Given the description of an element on the screen output the (x, y) to click on. 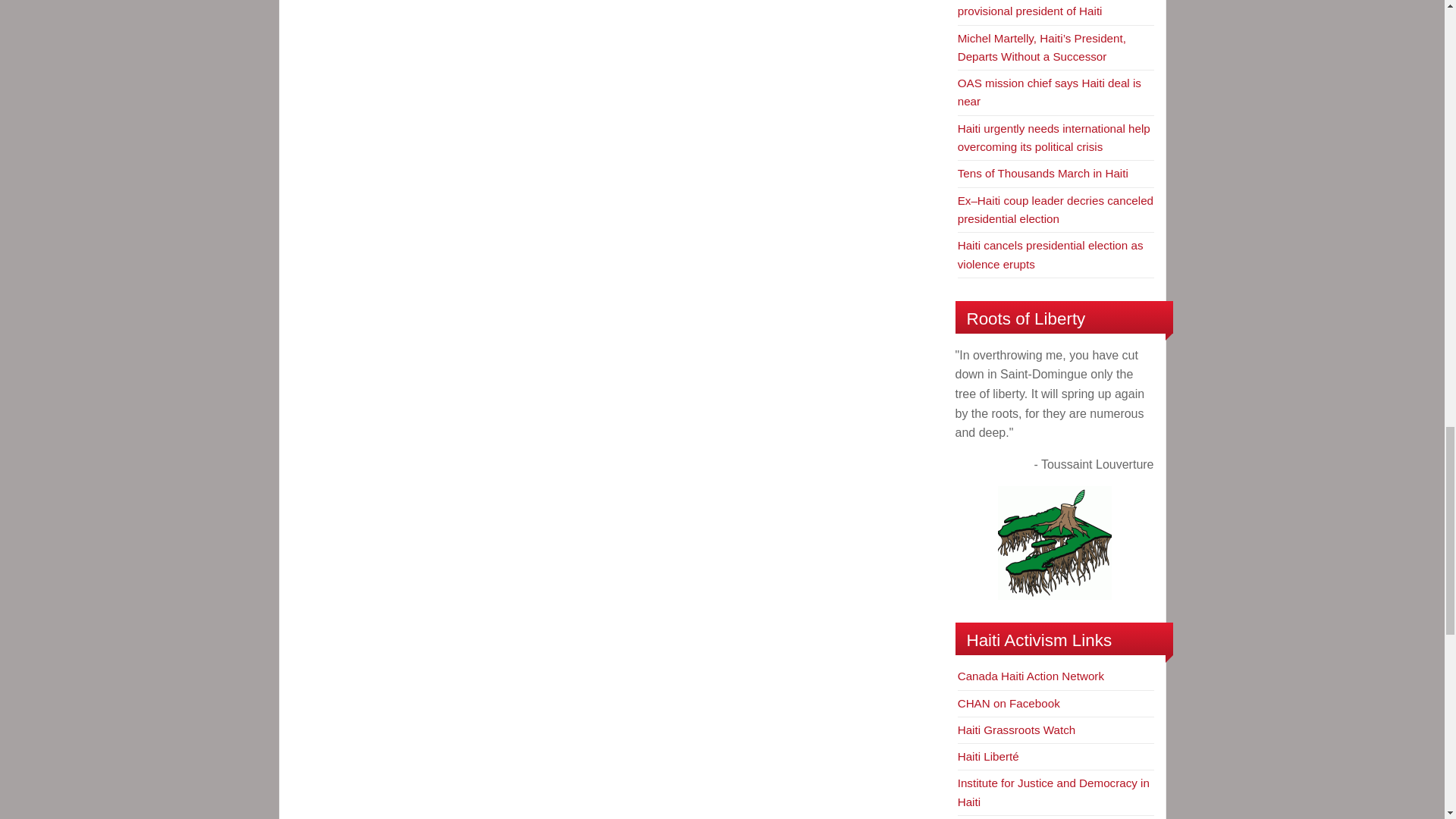
Former Senate leader selected provisional president of Haiti (1037, 8)
An outstanding independant news source for Haiti (988, 756)
The Canada Haiti Action Network also has a Facebook Account (1008, 703)
Toussaint Louverture quotation (1054, 542)
OAS mission chief says Haiti deal is near (1049, 91)
Tens of Thousands March in Haiti (1043, 173)
